Given the description of an element on the screen output the (x, y) to click on. 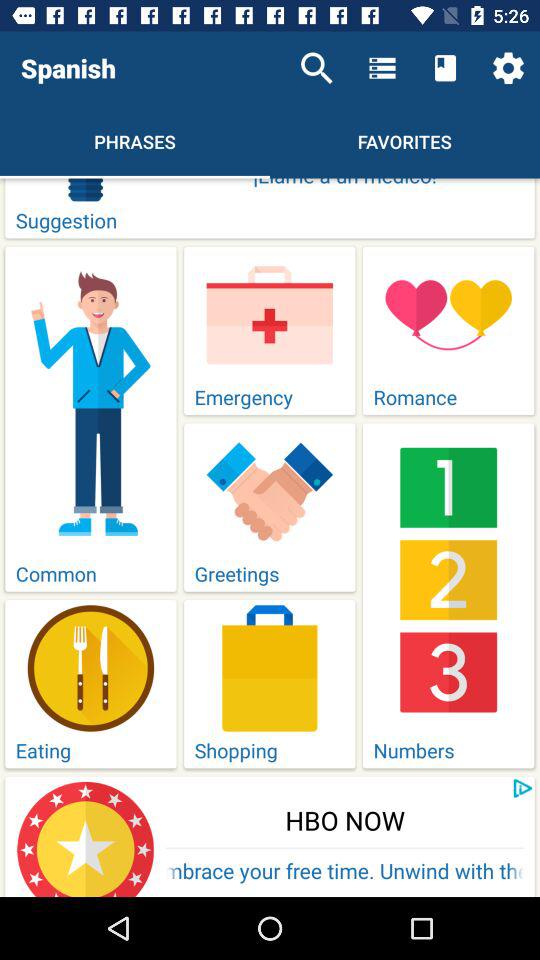
turn off item above the llame a un icon (508, 67)
